Given the description of an element on the screen output the (x, y) to click on. 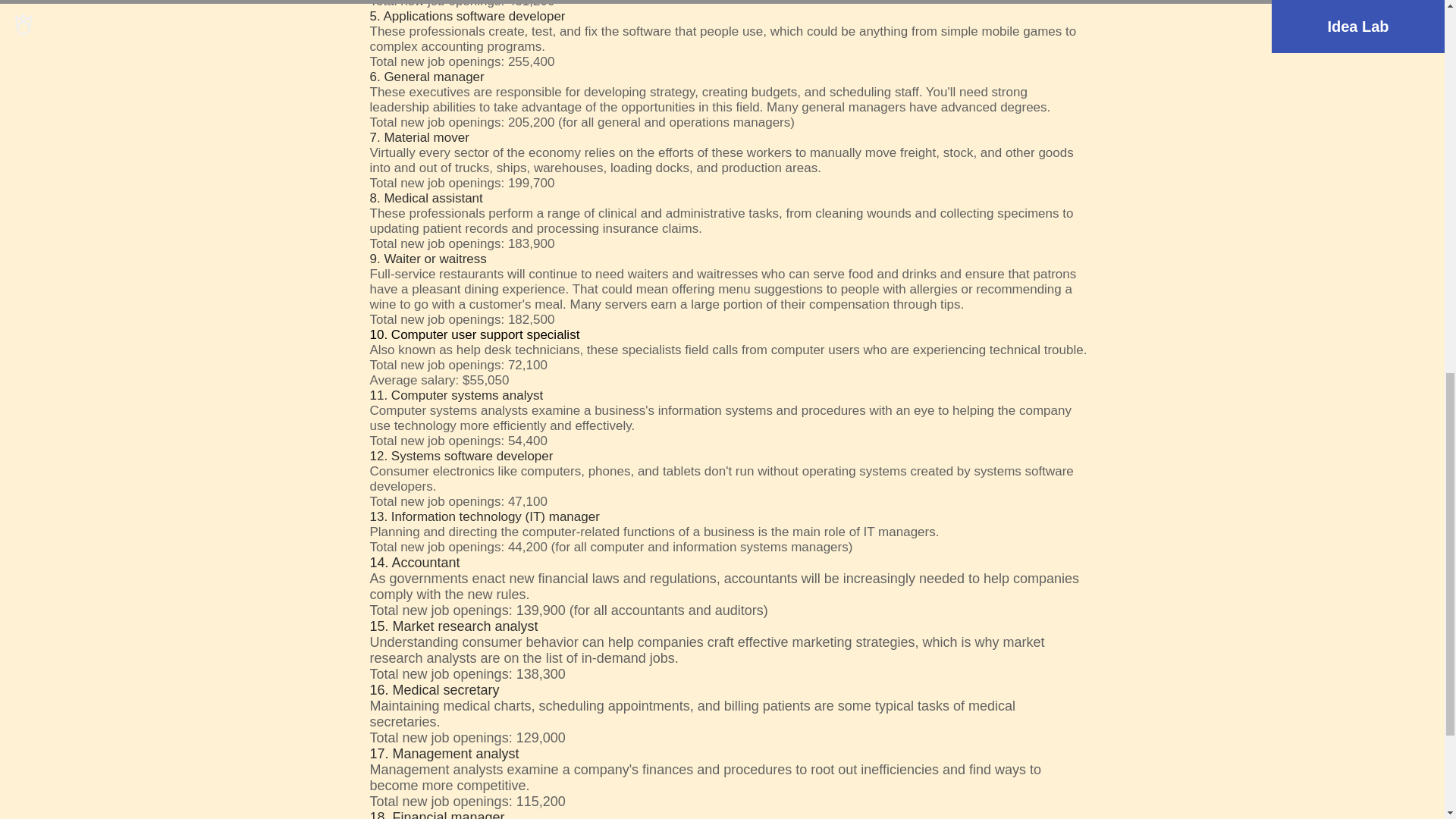
Medical assistant (432, 197)
Medical secretary (446, 689)
software developer (511, 16)
software developer (498, 455)
14. Accountant (414, 562)
Computer user support specialist (485, 334)
